Given the description of an element on the screen output the (x, y) to click on. 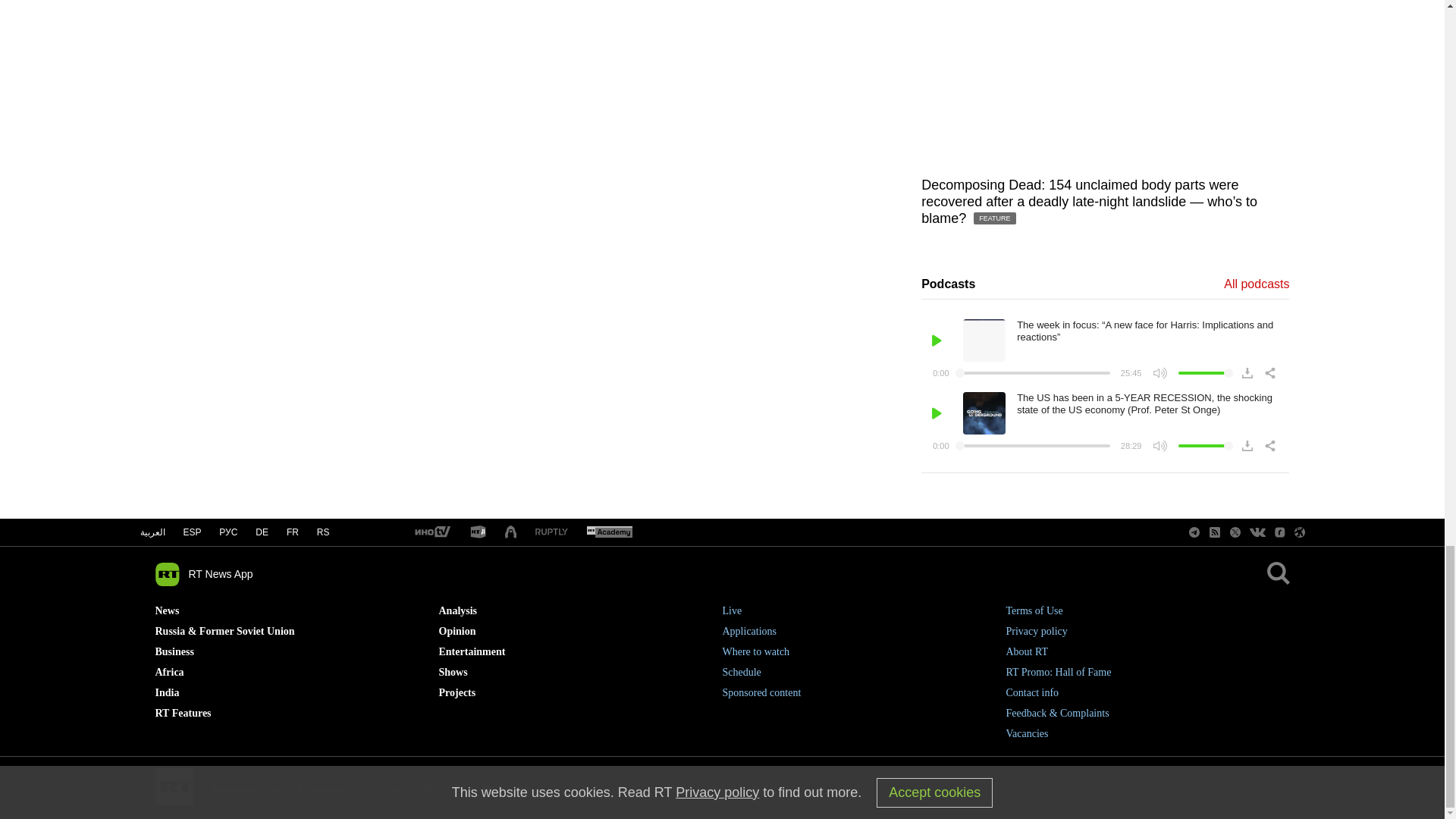
RT  (551, 532)
RT  (478, 532)
RT  (431, 532)
RT  (608, 532)
